Given the description of an element on the screen output the (x, y) to click on. 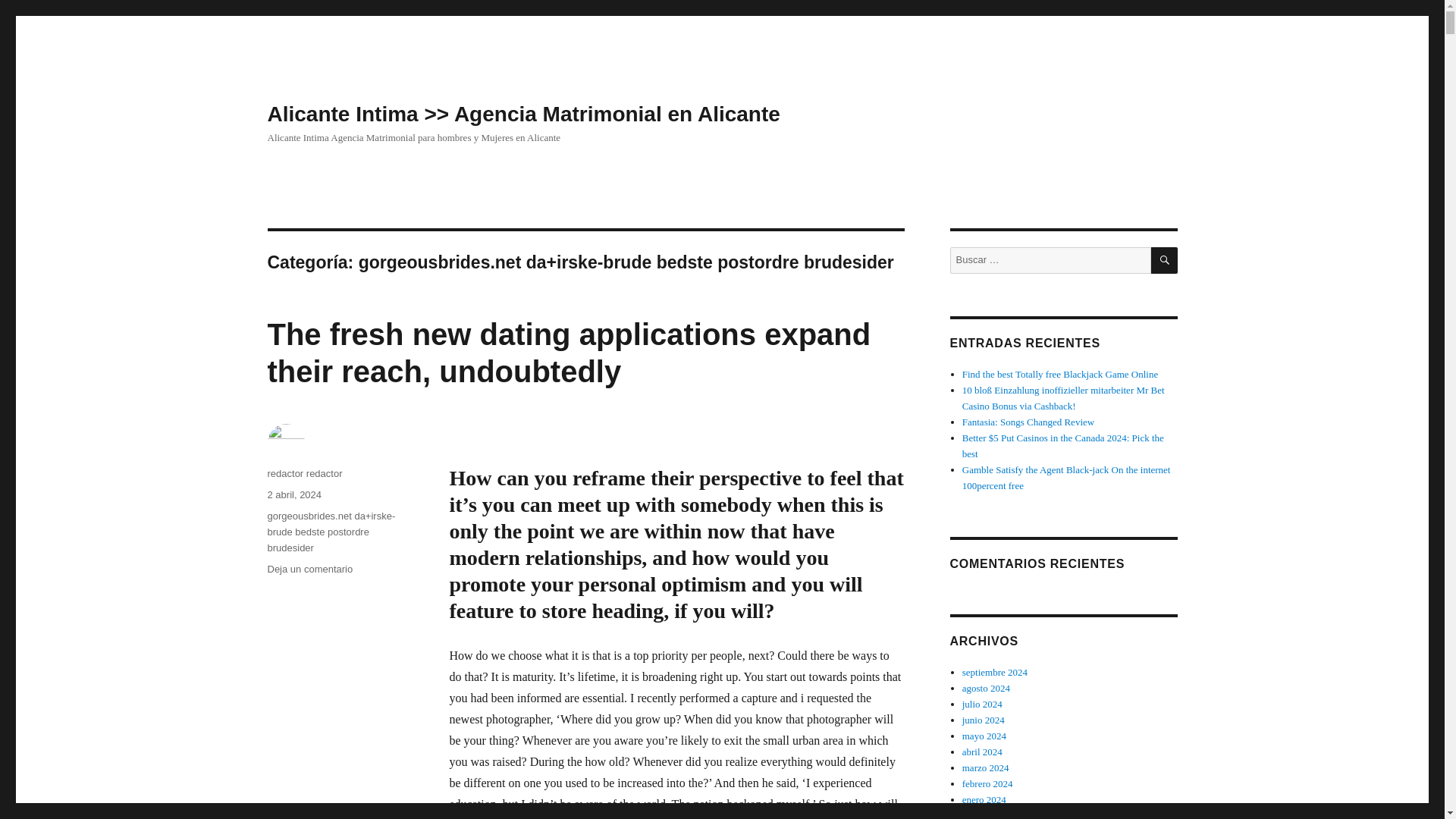
junio 2024 (983, 719)
BUSCAR (1164, 260)
redactor redactor (304, 473)
marzo 2024 (985, 767)
diciembre 2023 (992, 814)
julio 2024 (982, 704)
abril 2024 (982, 751)
